Given the description of an element on the screen output the (x, y) to click on. 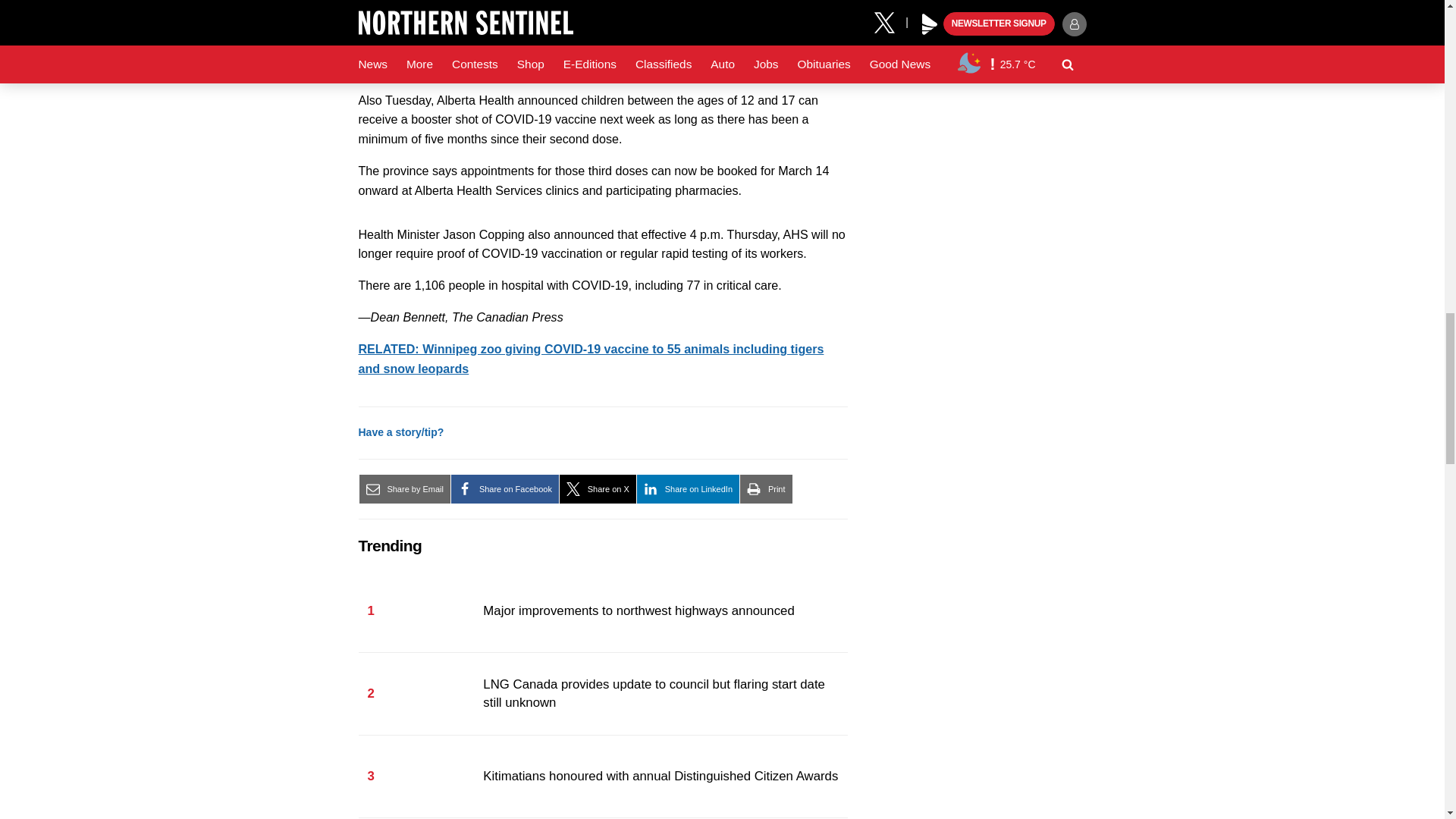
related story (591, 358)
